Given the description of an element on the screen output the (x, y) to click on. 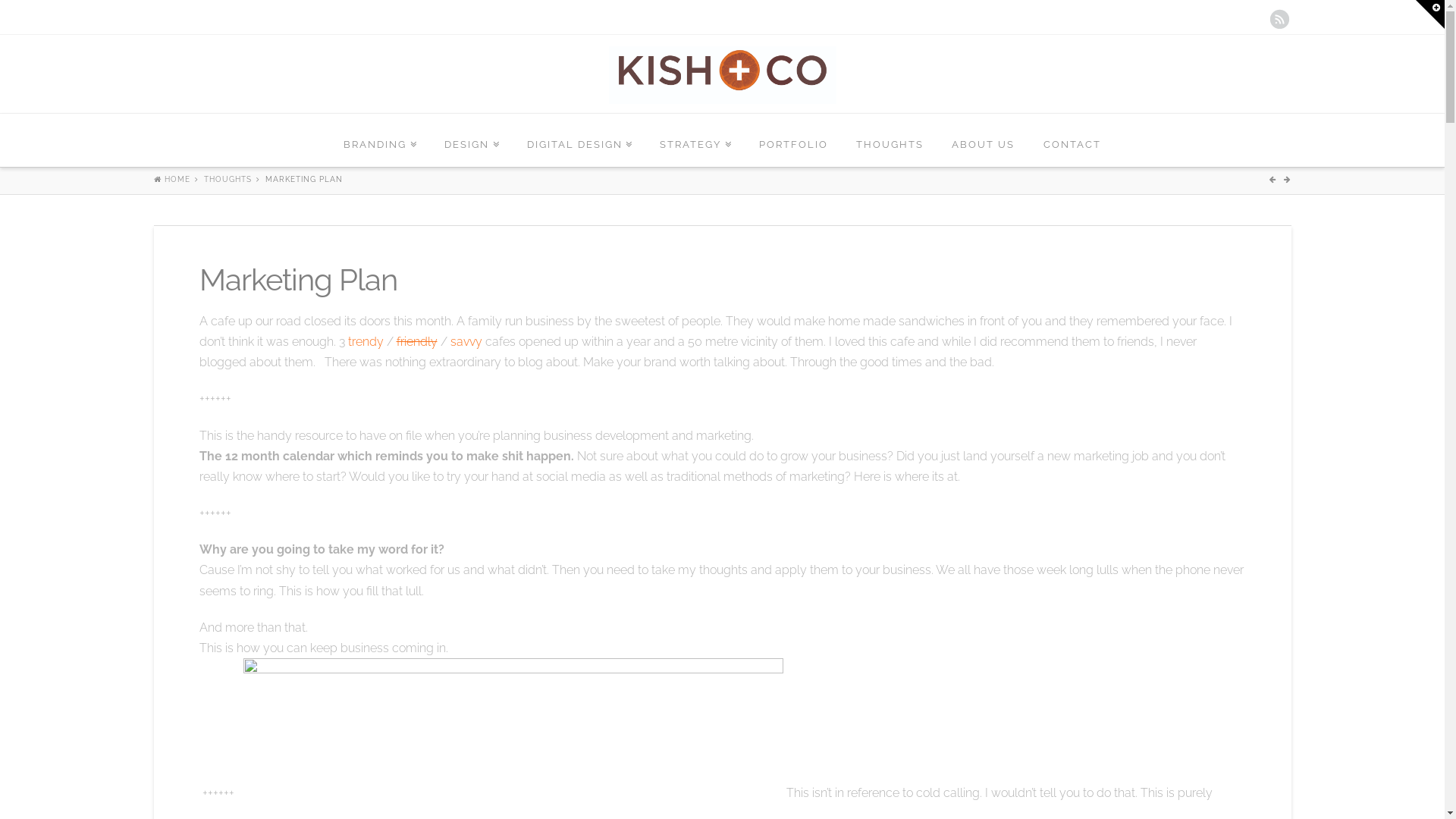
DESIGN Element type: text (471, 139)
CONTACT Element type: text (1071, 139)
friendly Element type: text (415, 341)
savvy Element type: text (466, 341)
ABOUT US Element type: text (983, 139)
THOUGHTS Element type: text (227, 179)
THOUGHTS Element type: text (890, 139)
Previous Post Element type: hover (1274, 179)
Toggle the Widgetbar Element type: text (1429, 14)
PORTFOLIO Element type: text (793, 139)
DIGITAL DESIGN Element type: text (579, 139)
STRATEGY Element type: text (695, 139)
Next Post Element type: hover (1286, 179)
trendy Element type: text (364, 341)
HOME Element type: text (171, 179)
BRANDING Element type: text (379, 139)
